Given the description of an element on the screen output the (x, y) to click on. 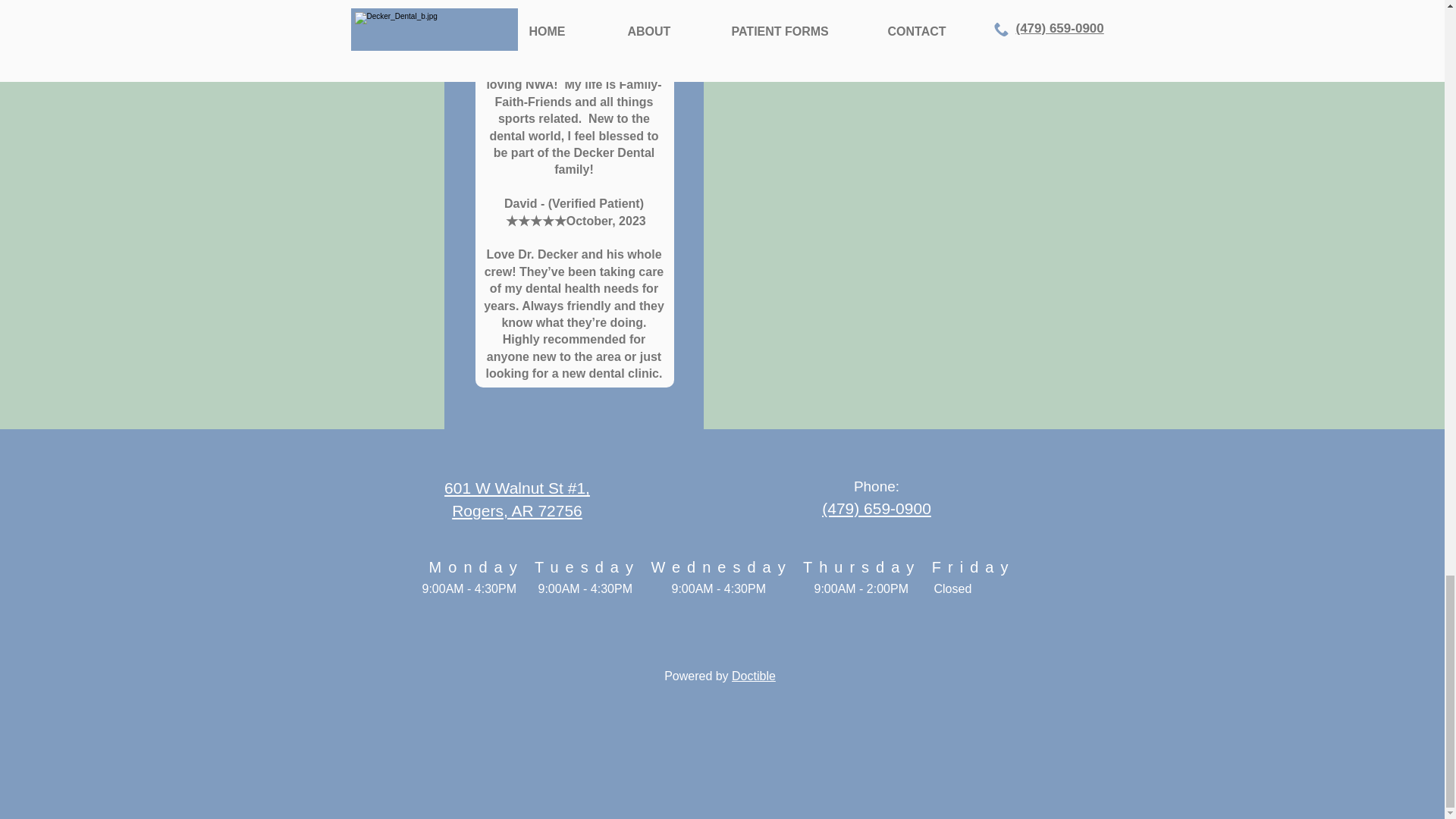
Rogers, AR 72756 (516, 510)
Doctible (754, 675)
